Given the description of an element on the screen output the (x, y) to click on. 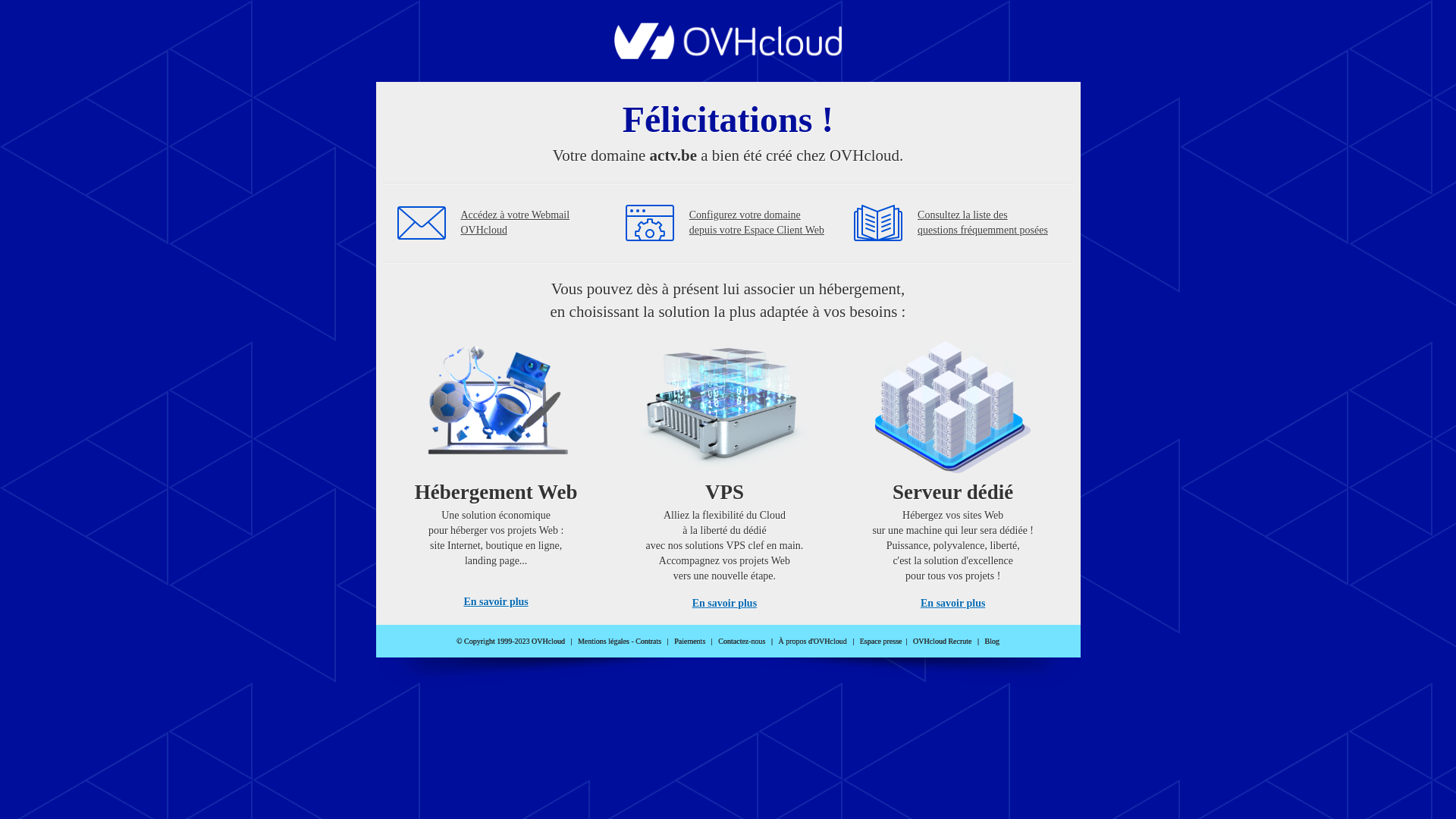
Contactez-nous Element type: text (741, 641)
VPS Element type: hover (724, 469)
En savoir plus Element type: text (495, 601)
Blog Element type: text (992, 641)
Configurez votre domaine
depuis votre Espace Client Web Element type: text (756, 222)
OVHcloud Recrute Element type: text (942, 641)
Paiements Element type: text (689, 641)
En savoir plus Element type: text (952, 602)
En savoir plus Element type: text (724, 602)
Espace presse Element type: text (880, 641)
OVHcloud Element type: hover (727, 54)
